Given the description of an element on the screen output the (x, y) to click on. 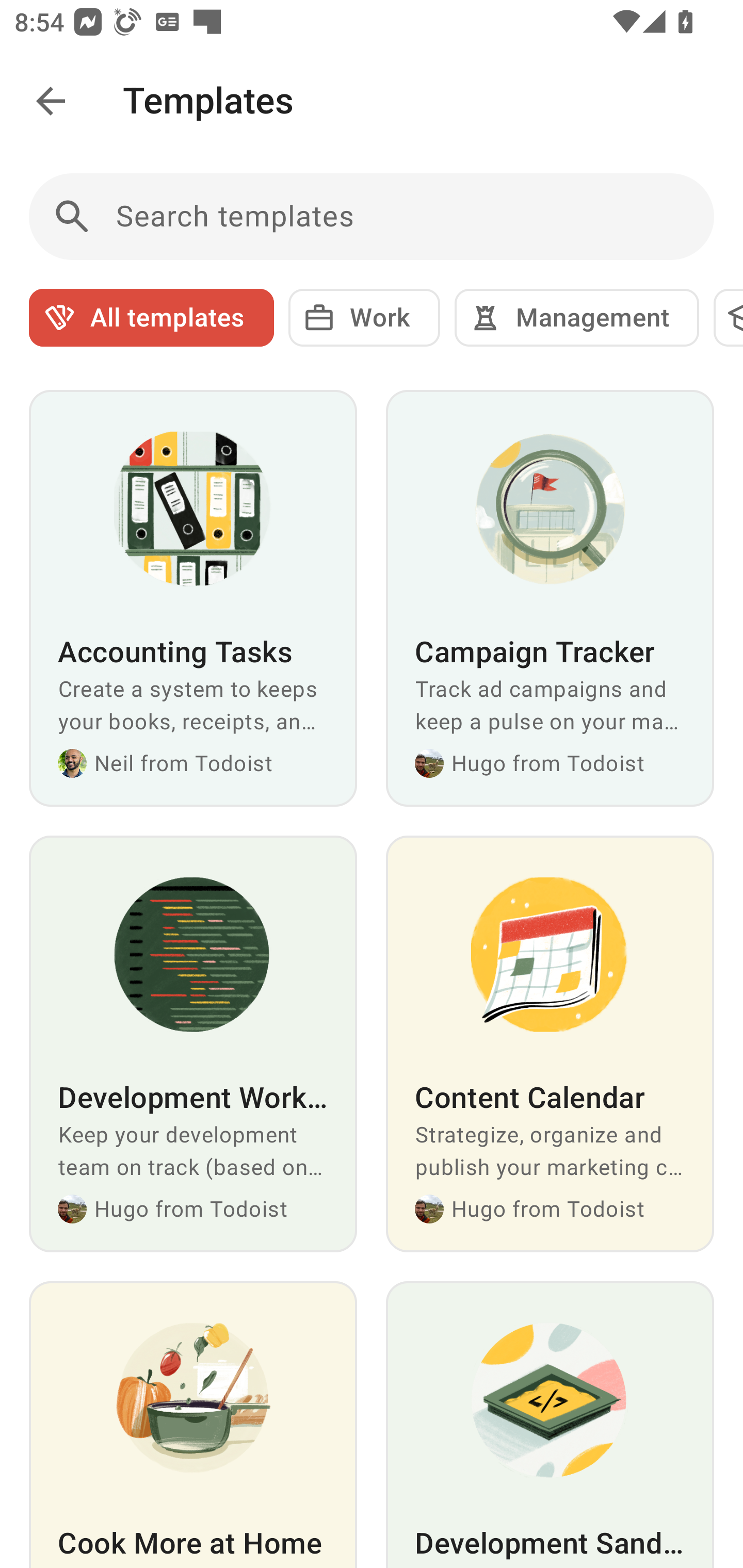
Back (50, 101)
Search Search templates (371, 217)
Work (363, 317)
Management (576, 317)
Cook More at Home (192, 1424)
Development Sandbox (549, 1424)
